Given the description of an element on the screen output the (x, y) to click on. 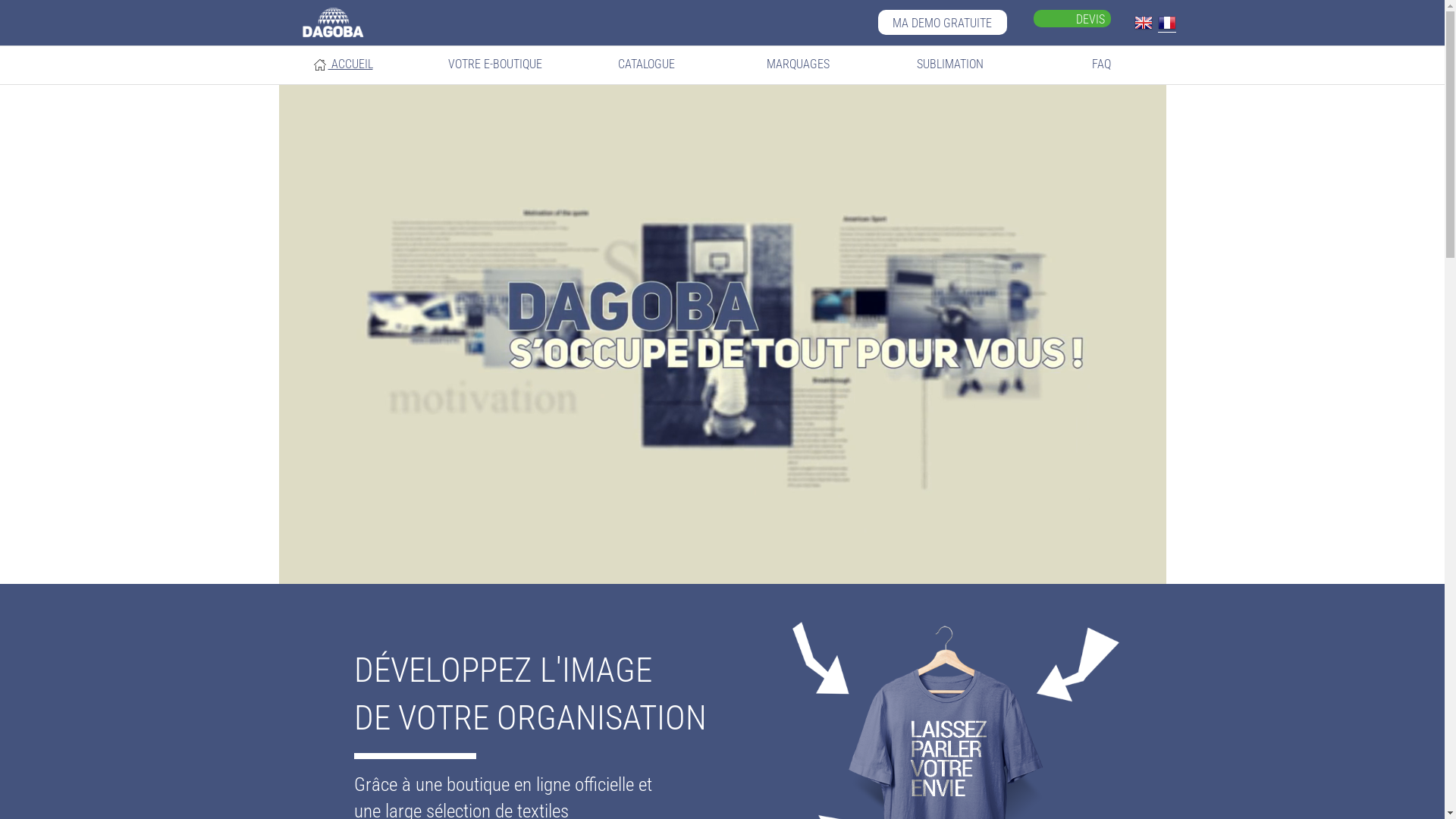
MARQUAGES Element type: text (797, 64)
VOTRE E-BOUTIQUE Element type: text (494, 64)
FAQ Element type: text (1100, 64)
ACCUEIL Element type: text (342, 64)
DEVIS Element type: text (1071, 18)
DEVIS Element type: text (1090, 19)
SUBLIMATION Element type: text (949, 64)
CATALOGUE Element type: text (645, 64)
MA DEMO GRATUITE Element type: text (942, 21)
